Given the description of an element on the screen output the (x, y) to click on. 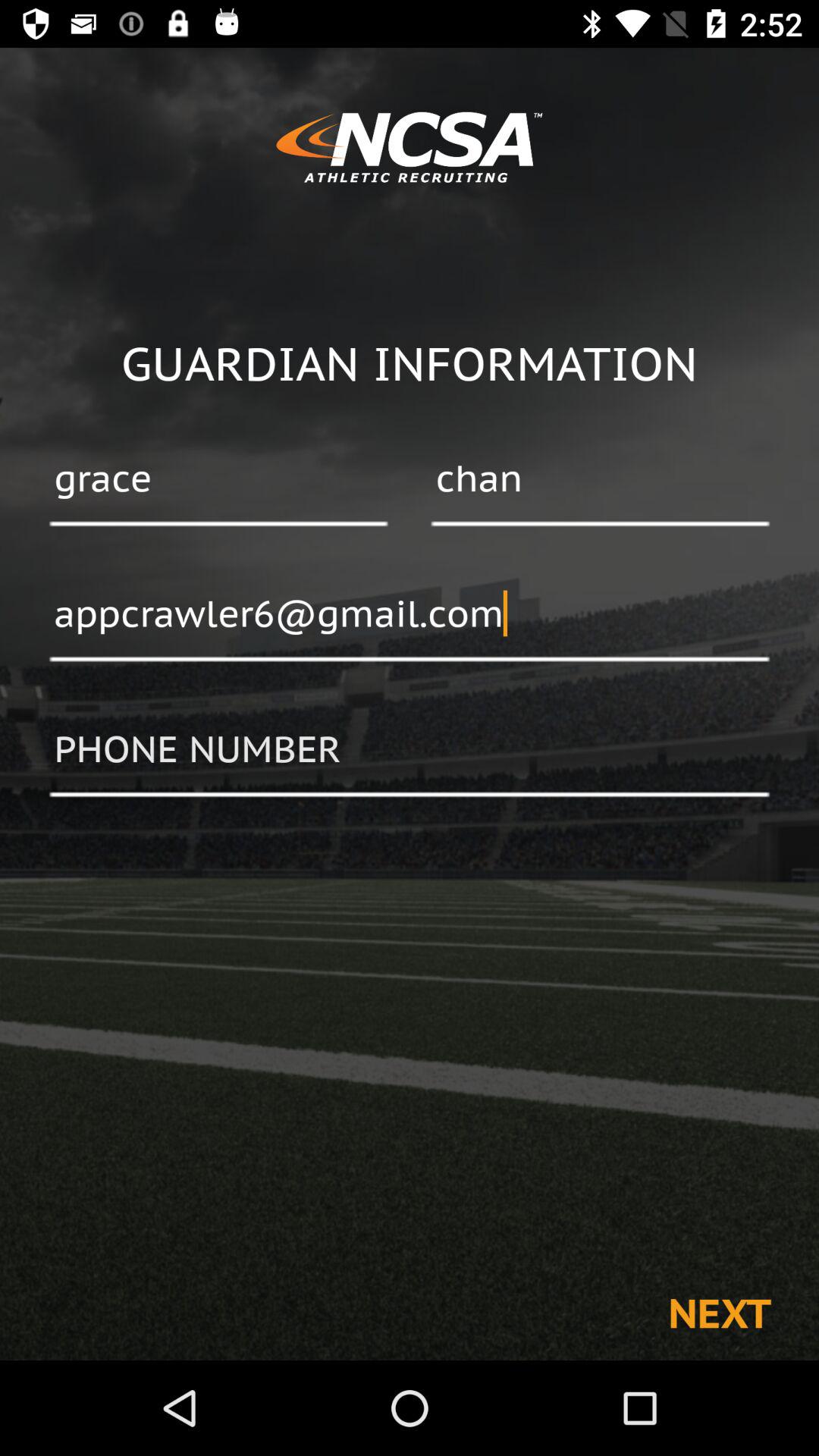
open grace item (218, 479)
